Given the description of an element on the screen output the (x, y) to click on. 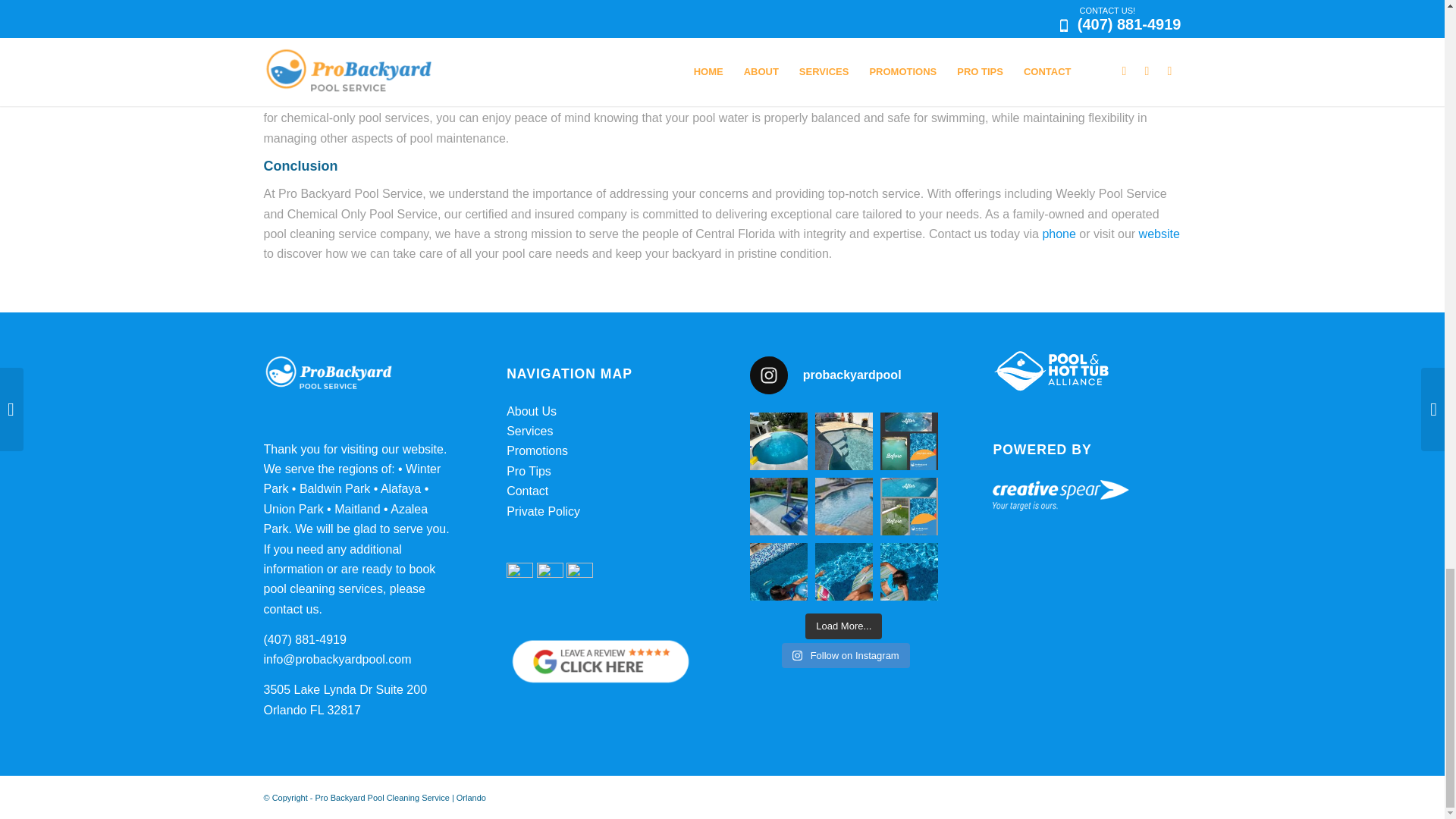
phone (1058, 233)
Follow on Instagram (845, 655)
About Us (531, 410)
Load More... (843, 626)
website (1158, 233)
Promotions (536, 450)
probackyardpool (843, 374)
Contact (527, 490)
Services (529, 431)
Private Policy (542, 511)
Pro Tips (528, 471)
